Given the description of an element on the screen output the (x, y) to click on. 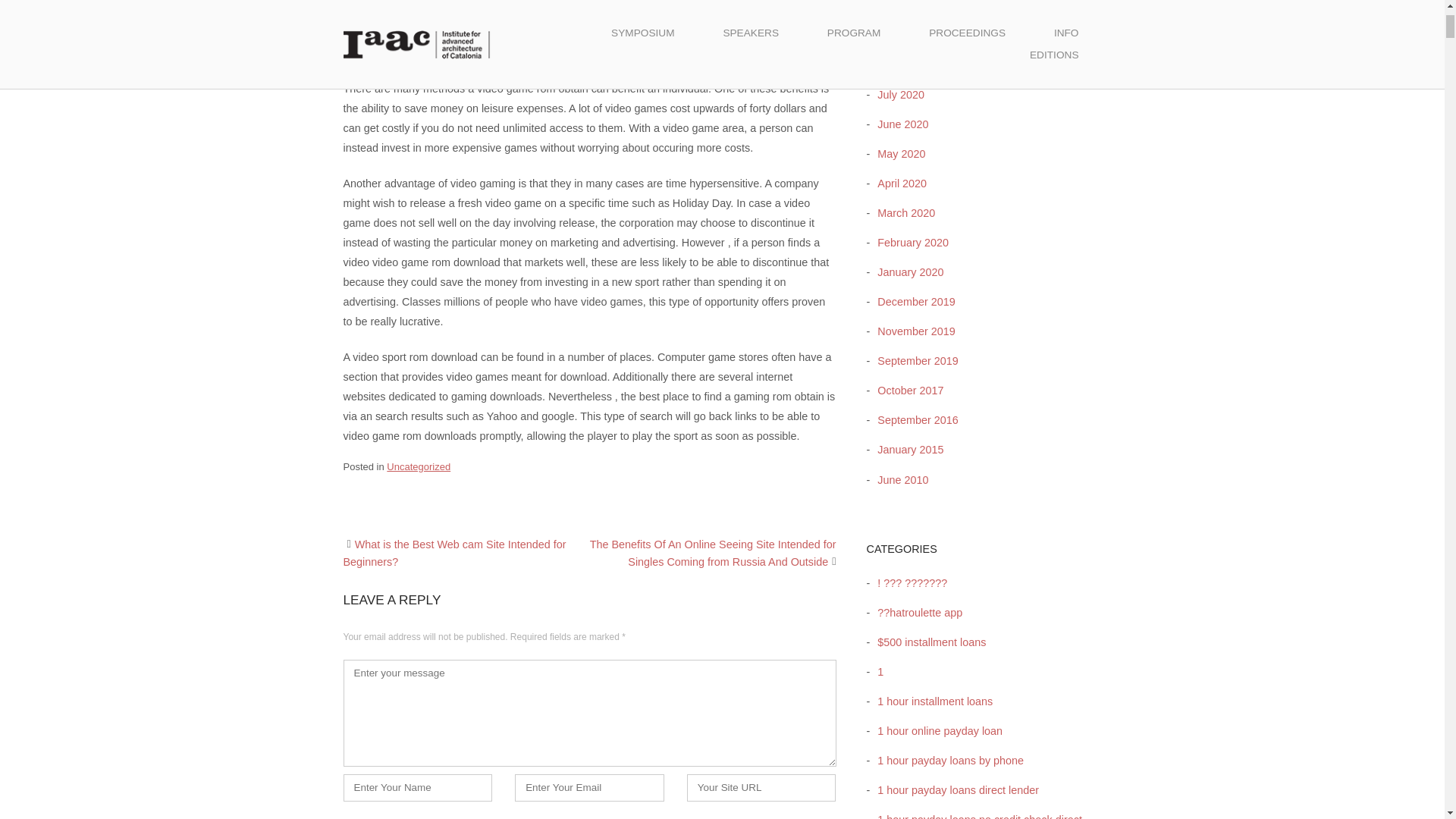
October 2020 (906, 6)
What is the Best Web cam Site Intended for Beginners? (454, 553)
September 2020 (913, 35)
Uncategorized (418, 466)
